Given the description of an element on the screen output the (x, y) to click on. 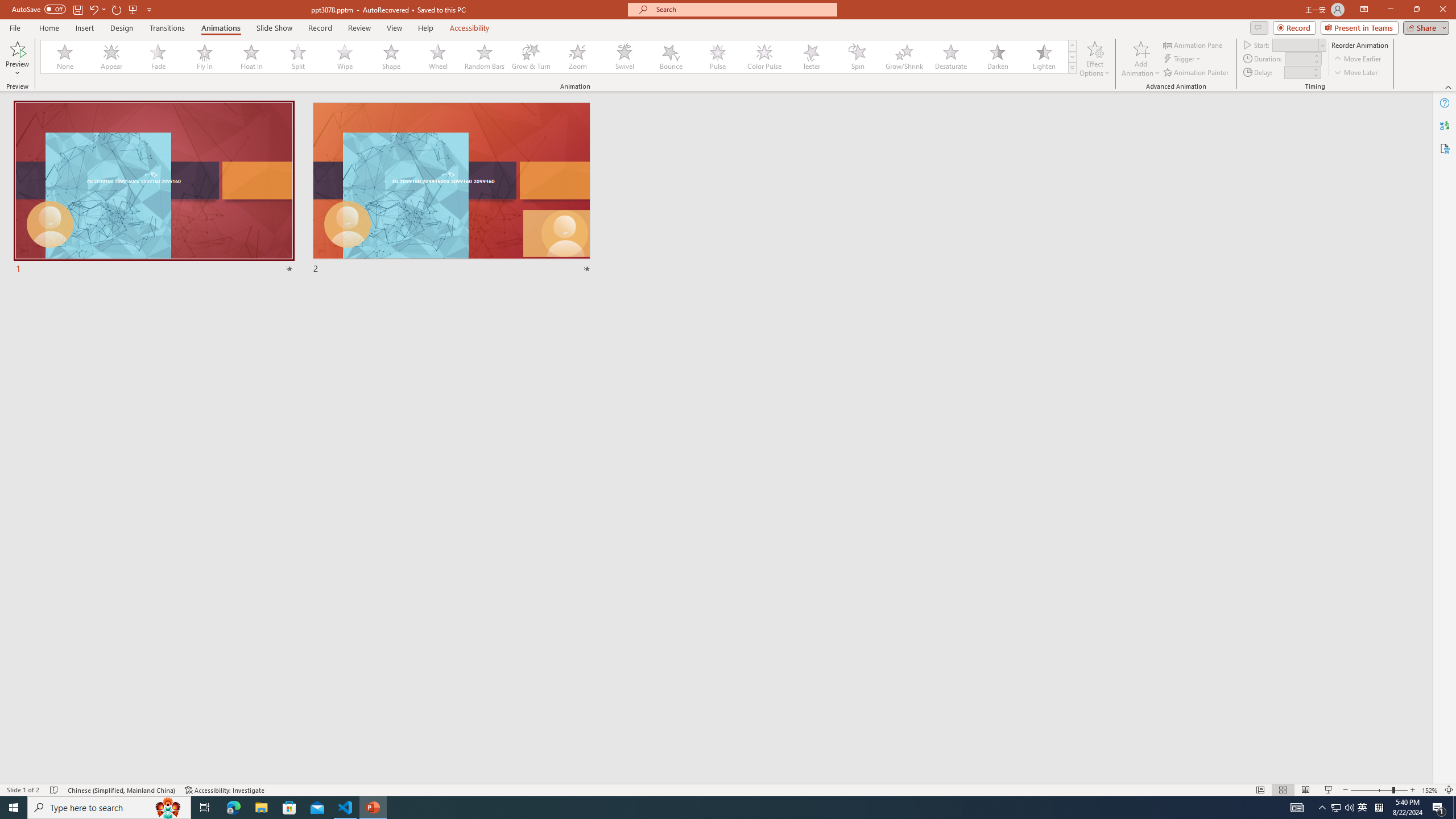
Move Earlier (1357, 58)
Animation Styles (1071, 67)
Grow/Shrink (903, 56)
Appear (111, 56)
Swivel (624, 56)
AutomationID: AnimationGallery (558, 56)
Animation Duration (1298, 58)
